Given the description of an element on the screen output the (x, y) to click on. 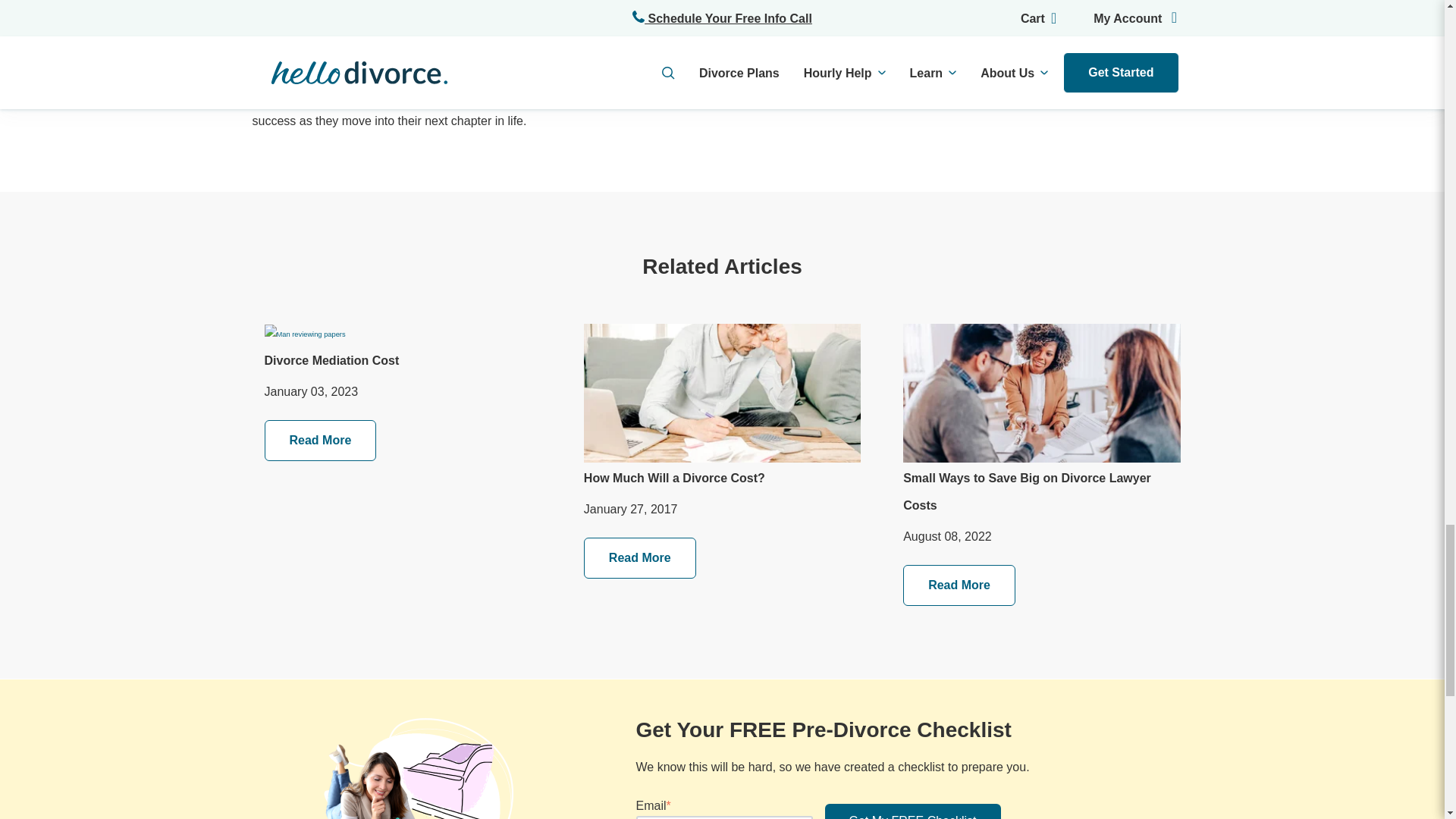
Get My FREE Checklist (913, 811)
